Given the description of an element on the screen output the (x, y) to click on. 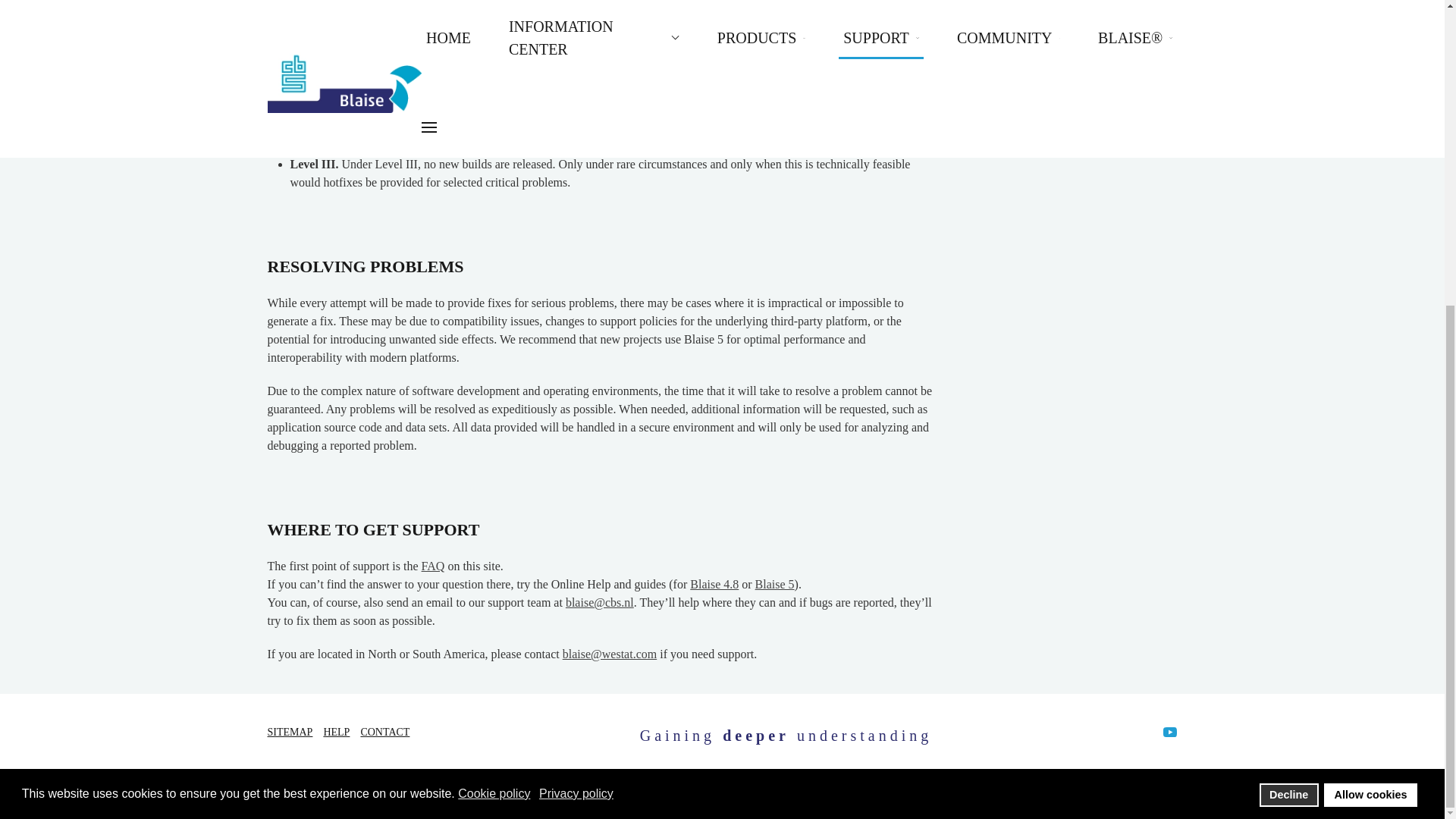
Allow cookies (1369, 314)
Privacy policy (576, 313)
Cookie policy (495, 313)
Decline (1289, 314)
